Given the description of an element on the screen output the (x, y) to click on. 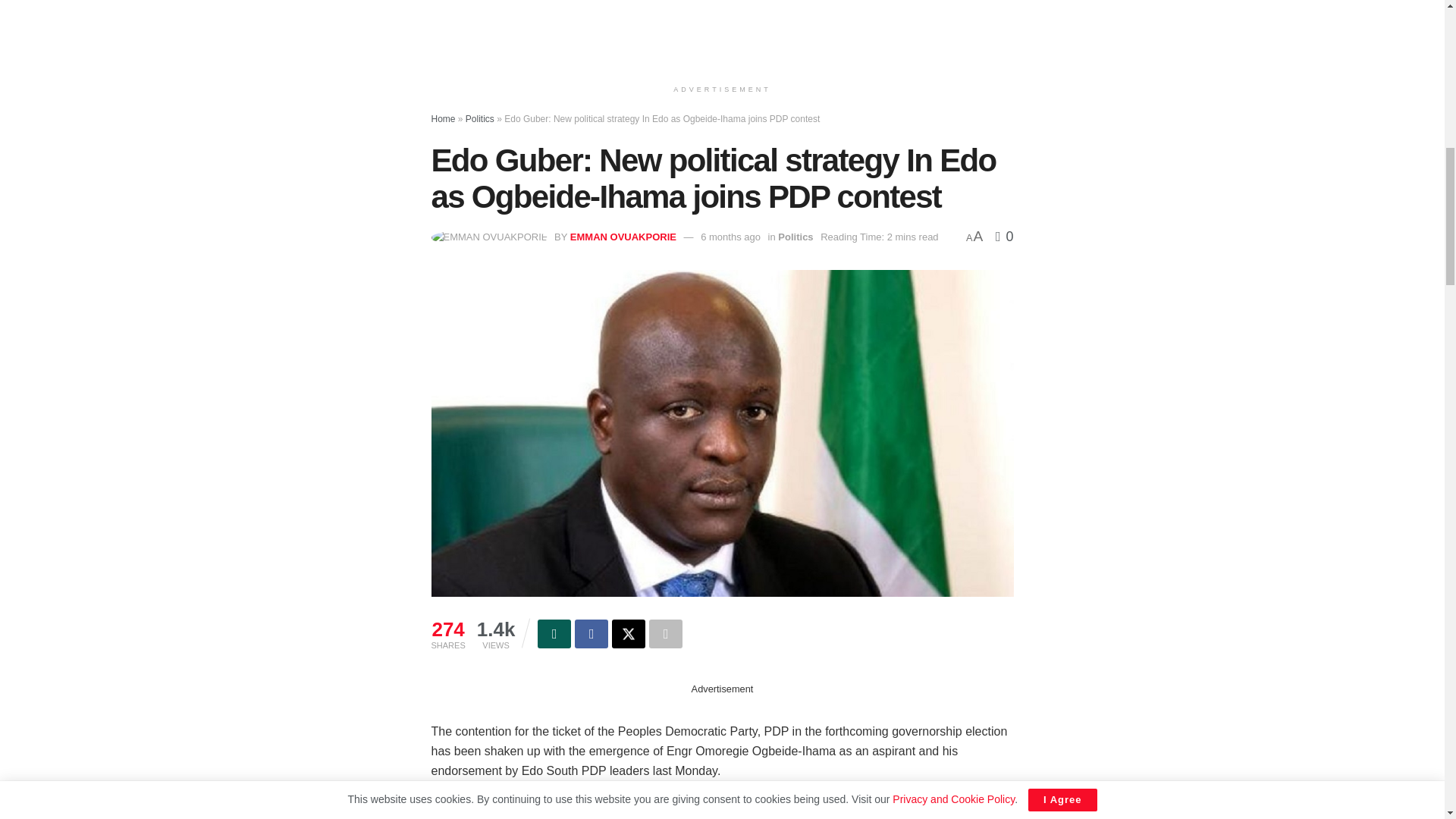
Advertisement (721, 27)
